Given the description of an element on the screen output the (x, y) to click on. 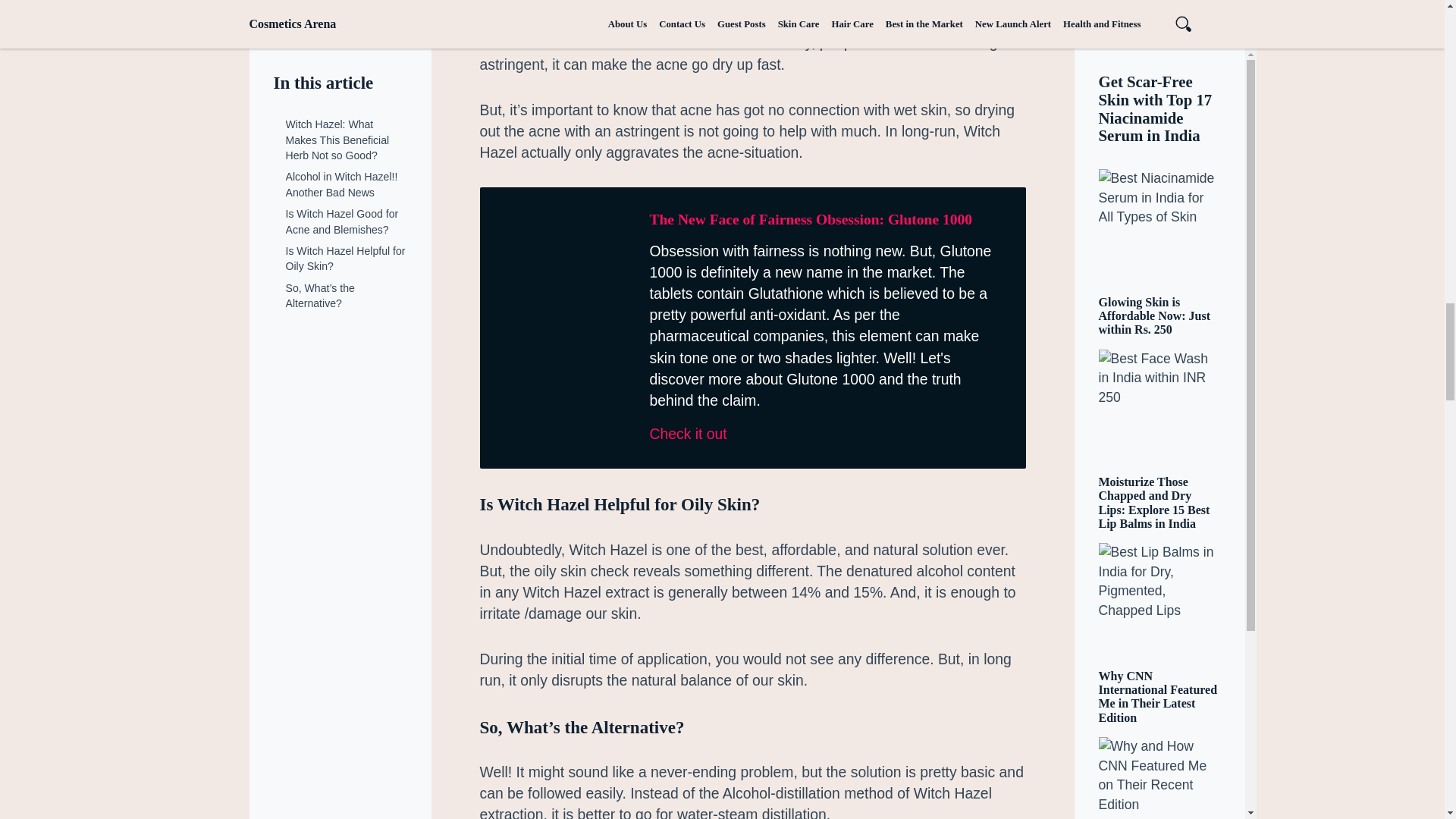
The New Face of Fairness Obsession: Glutone 1000 (810, 219)
Check it out (825, 433)
